Given the description of an element on the screen output the (x, y) to click on. 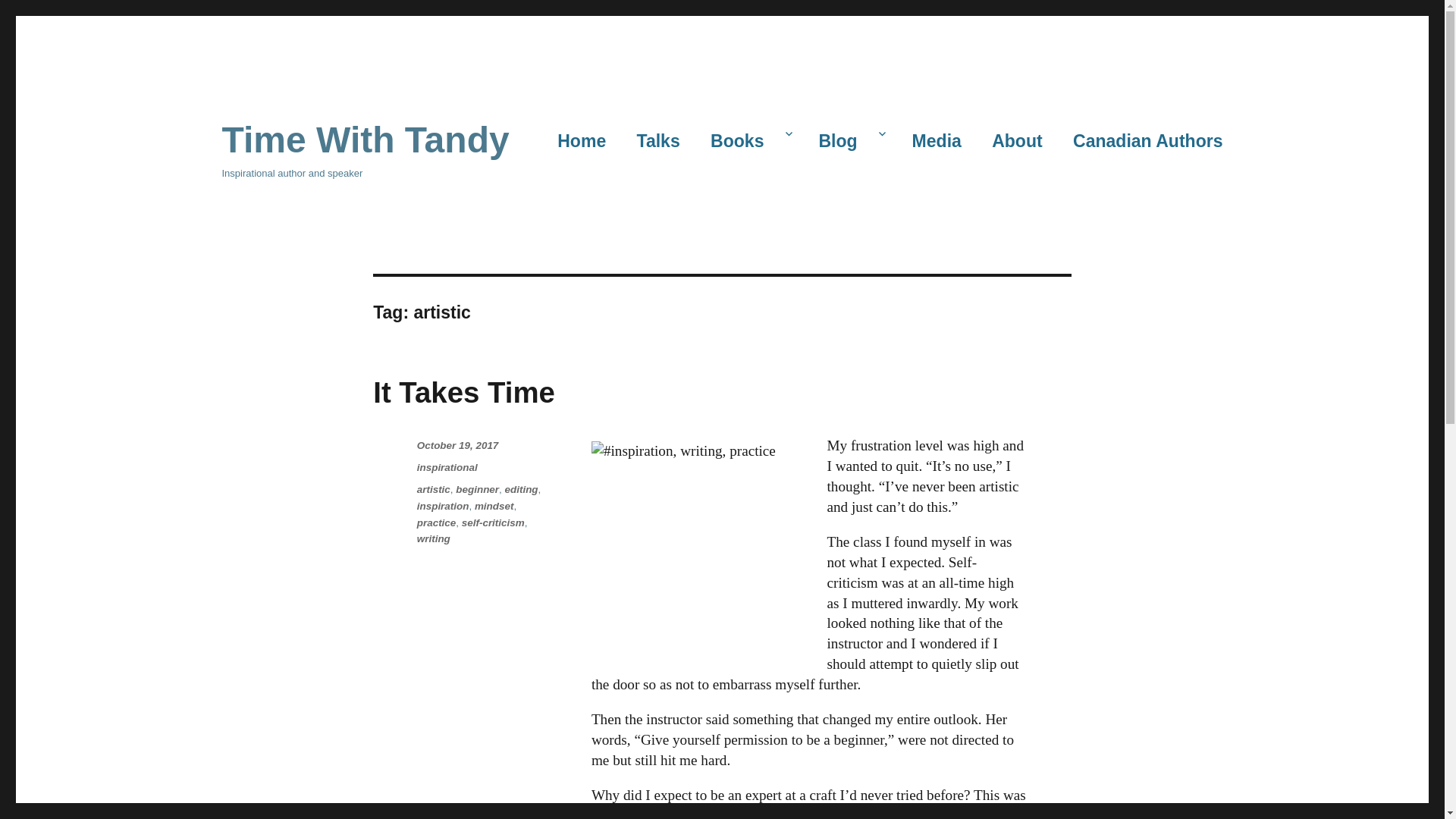
practice (436, 522)
inspirational (446, 467)
inspiration (442, 505)
October 19, 2017 (457, 445)
beginner (477, 489)
artistic (432, 489)
editing (521, 489)
It Takes Time (463, 391)
Home (581, 139)
Canadian Authors (1148, 139)
